Given the description of an element on the screen output the (x, y) to click on. 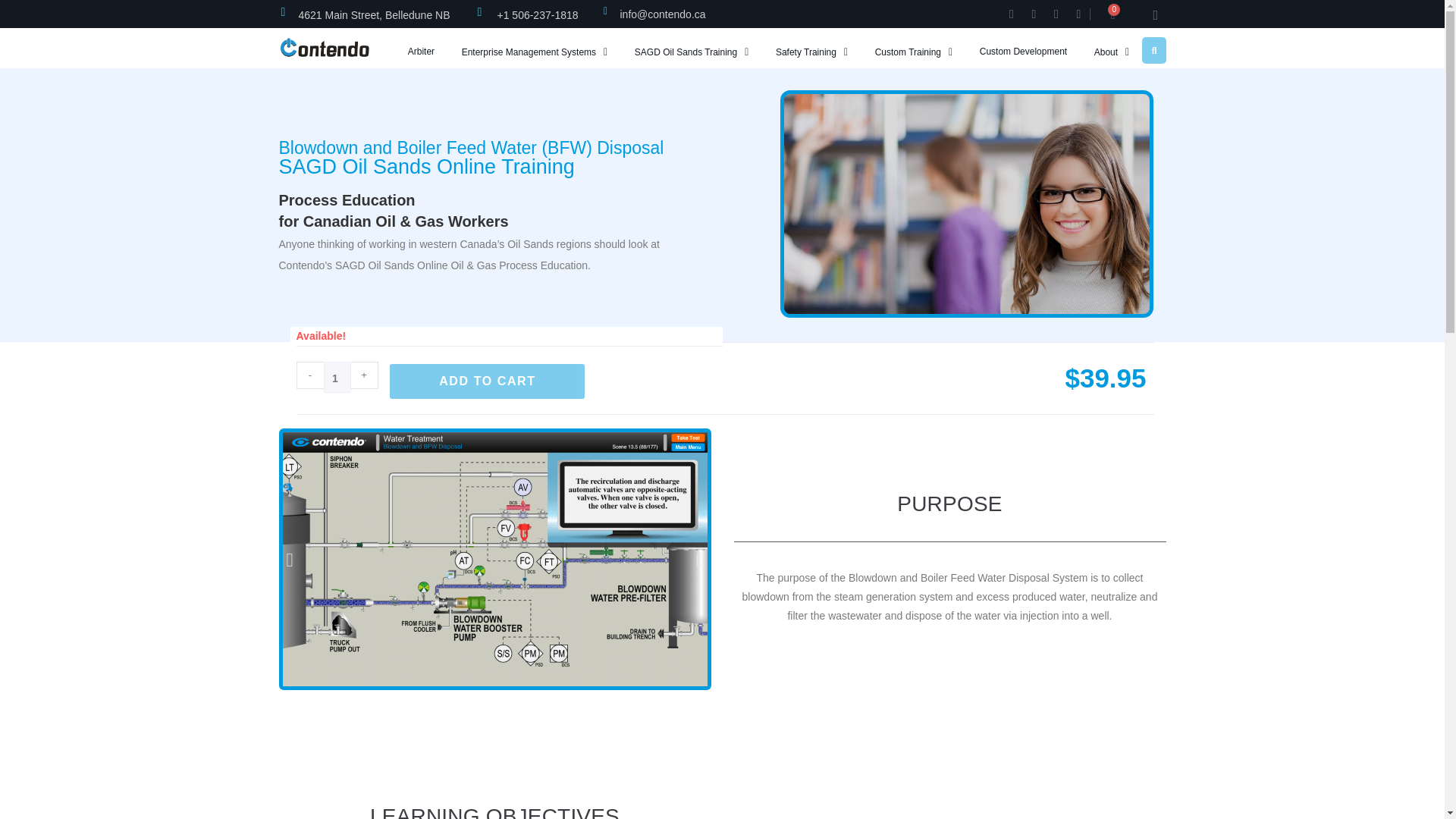
Custom Development (1022, 51)
About (1110, 52)
Enterprise Management Systems (534, 52)
Safety Training (811, 52)
SAGD Oil Sands Training (691, 52)
Custom Training (913, 52)
Arbiter (420, 51)
